Given the description of an element on the screen output the (x, y) to click on. 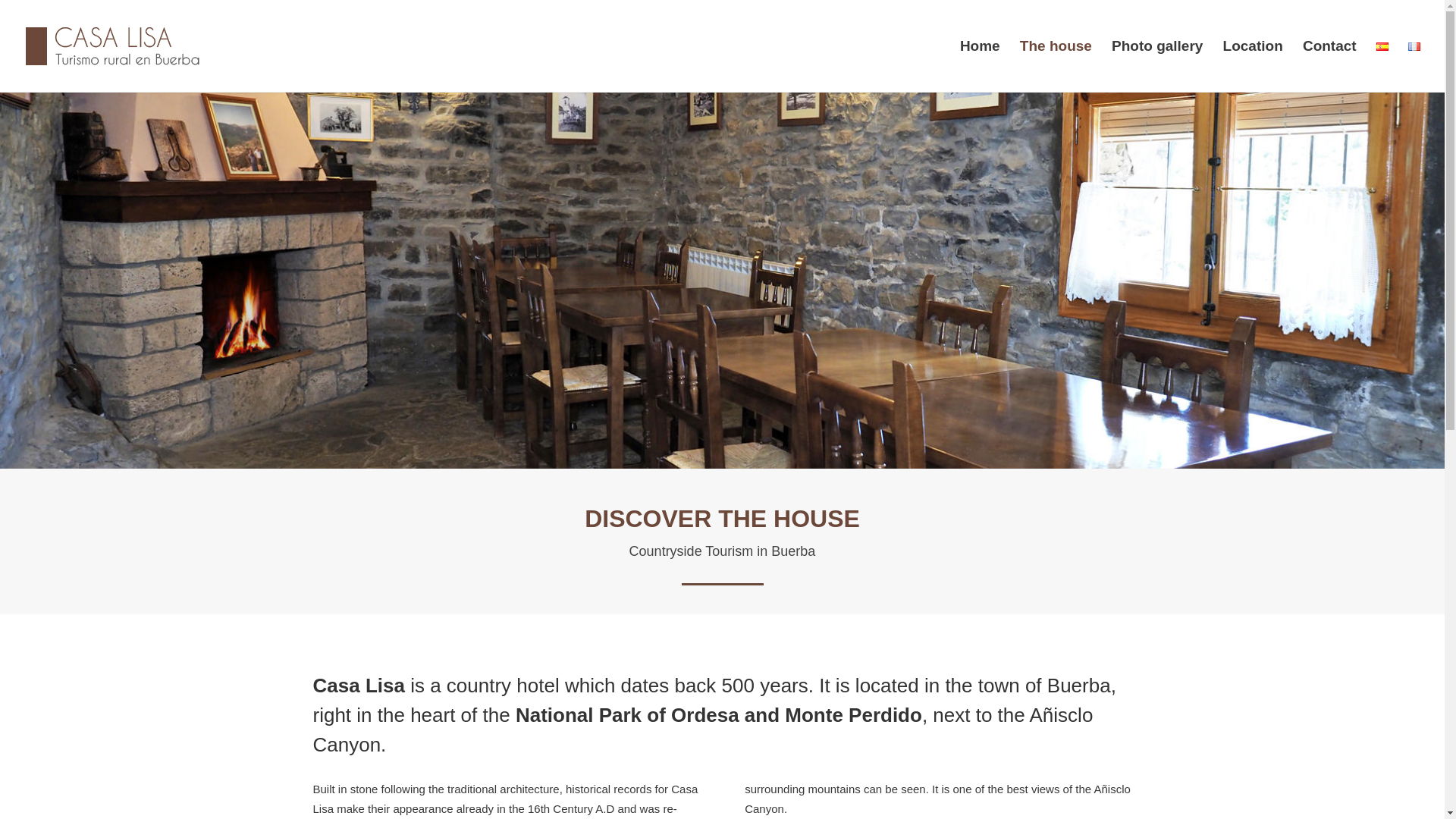
Photo gallery (1157, 66)
Contact (1329, 66)
The house (1056, 66)
Location (1252, 66)
